Given the description of an element on the screen output the (x, y) to click on. 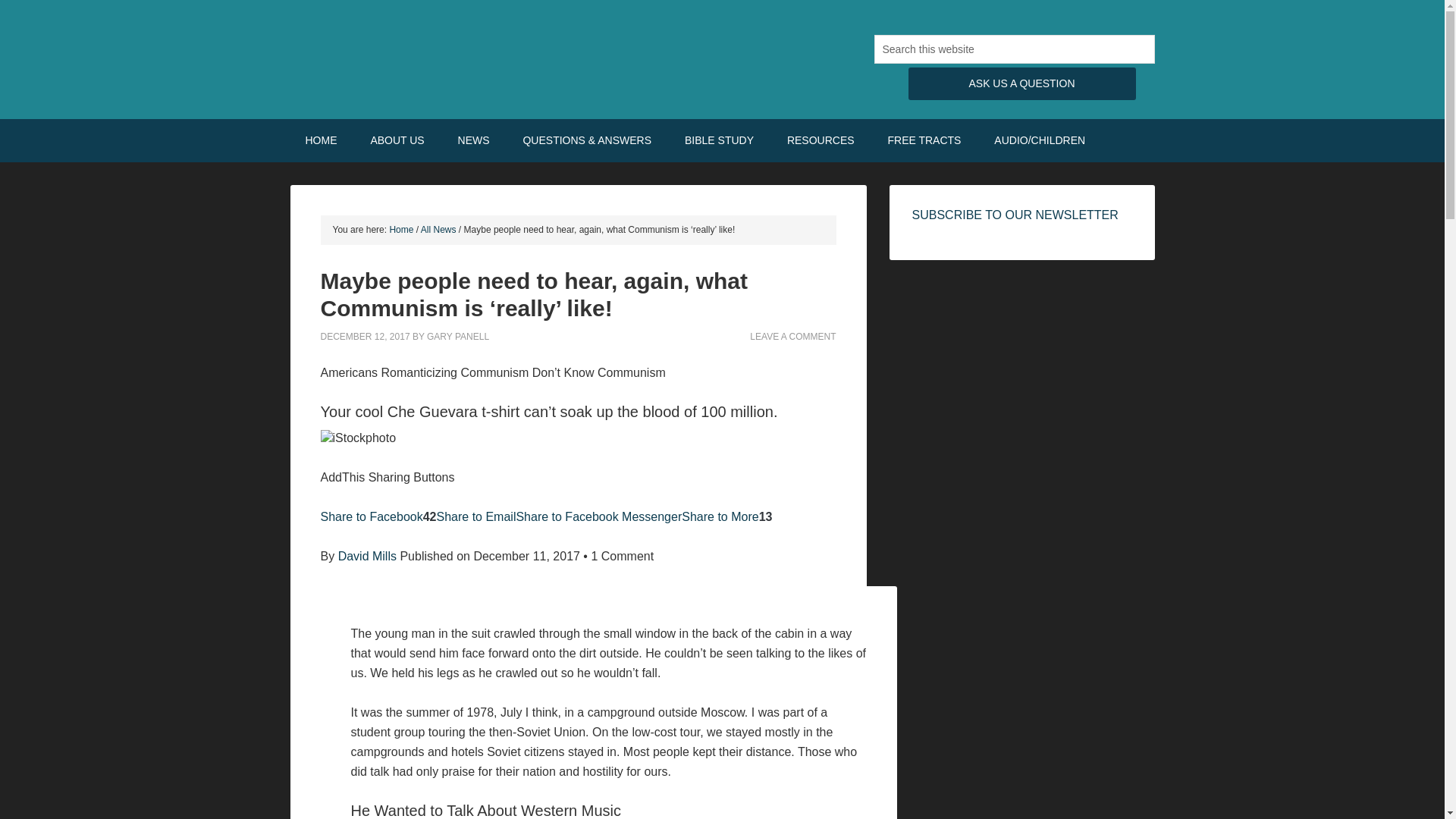
ASK US A QUESTION (1021, 83)
Home (400, 229)
Share to Facebook Messenger (598, 516)
All News (438, 229)
Share to Email (476, 516)
Share to More (719, 516)
David Mills (366, 555)
NEWS (473, 140)
Share to Facebook (371, 516)
